Given the description of an element on the screen output the (x, y) to click on. 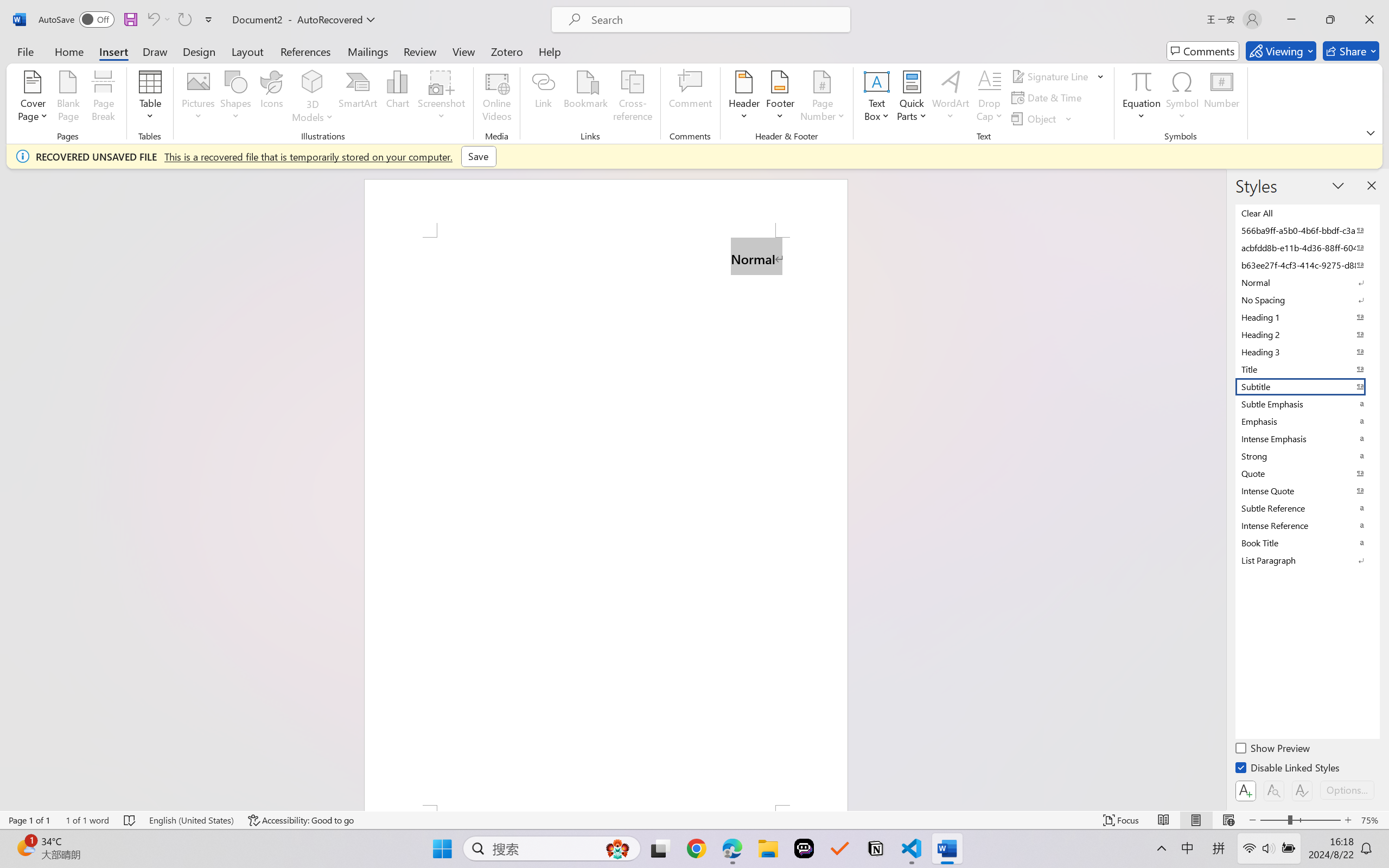
Can't Undo (152, 19)
Show Preview (1273, 749)
Page Number (822, 97)
3D Models (312, 97)
Help (549, 51)
Table (149, 97)
Subtle Emphasis (1306, 404)
Quote (1306, 473)
Object... (1035, 118)
